Given the description of an element on the screen output the (x, y) to click on. 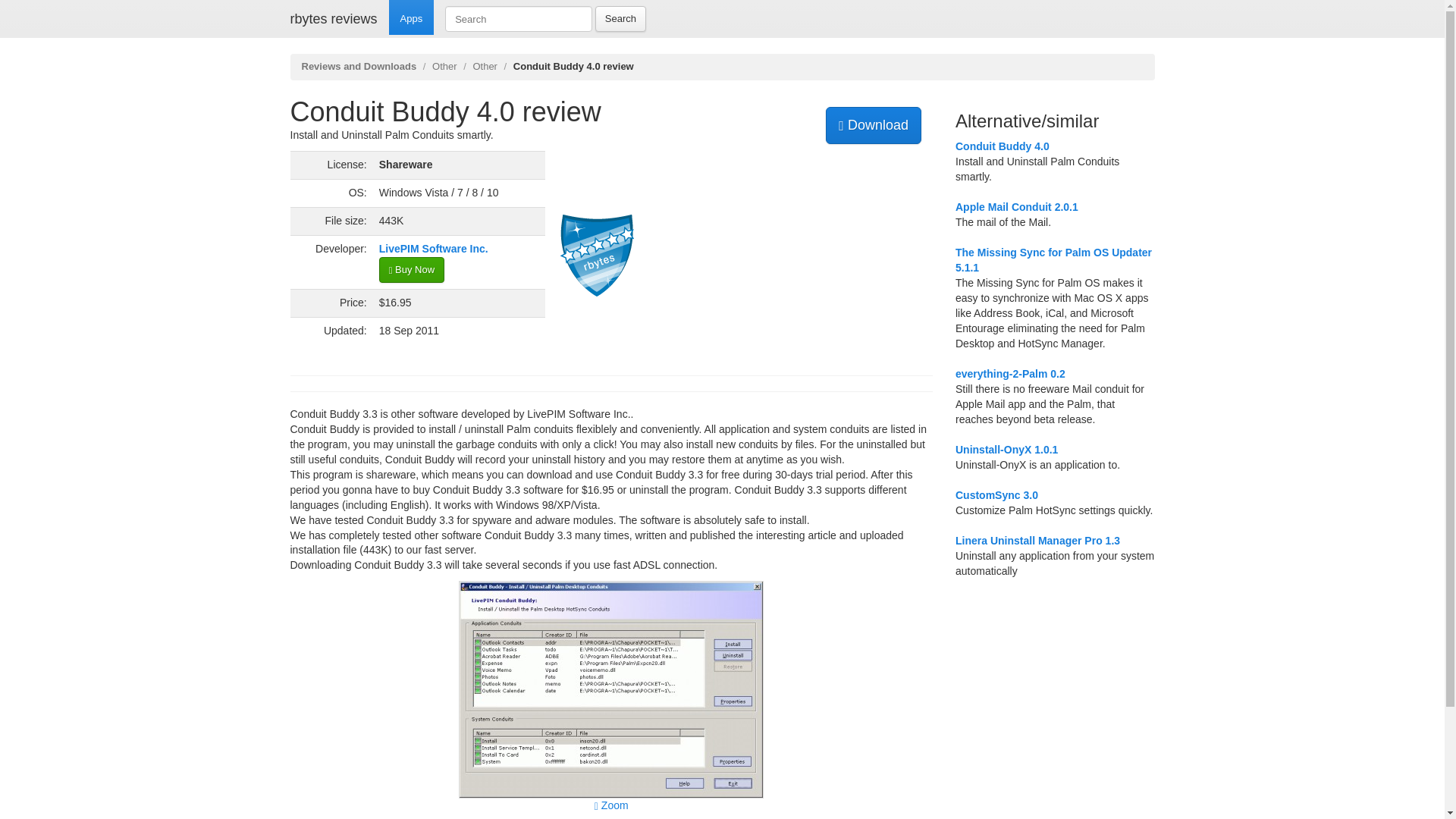
Reviews and Downloads (358, 66)
Apple Mail Conduit 2.0.1 (1016, 206)
Conduit Buddy 4.0 screenshot (610, 689)
everything-2-Palm 0.2 review (1010, 373)
everything-2-Palm 0.2 (1010, 373)
Linera Uninstall Manager Pro 1.3 review (1037, 540)
Conduit Buddy 4.0 (1002, 146)
Uninstall-OnyX 1.0.1 review (1006, 449)
Uninstall-OnyX 1.0.1 (1006, 449)
rbytes reviews (333, 18)
CustomSync 3.0 review (996, 494)
CustomSync 3.0 (996, 494)
Buy Now (411, 269)
Apple Mail Conduit 2.0.1 review (1016, 206)
The Missing Sync for Palm OS Updater 5.1.1 (1053, 259)
